Given the description of an element on the screen output the (x, y) to click on. 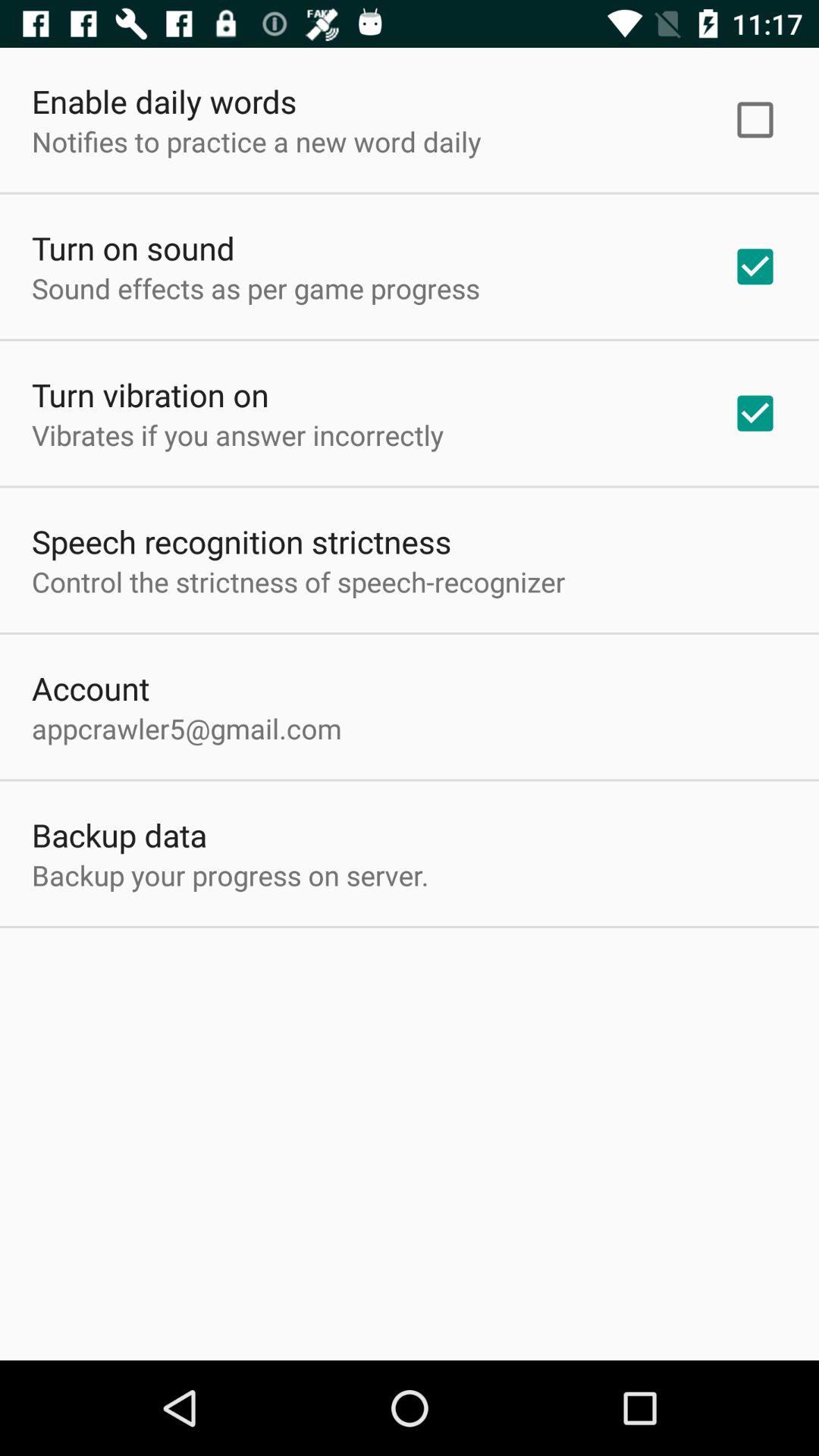
turn off app above turn vibration on item (255, 288)
